Given the description of an element on the screen output the (x, y) to click on. 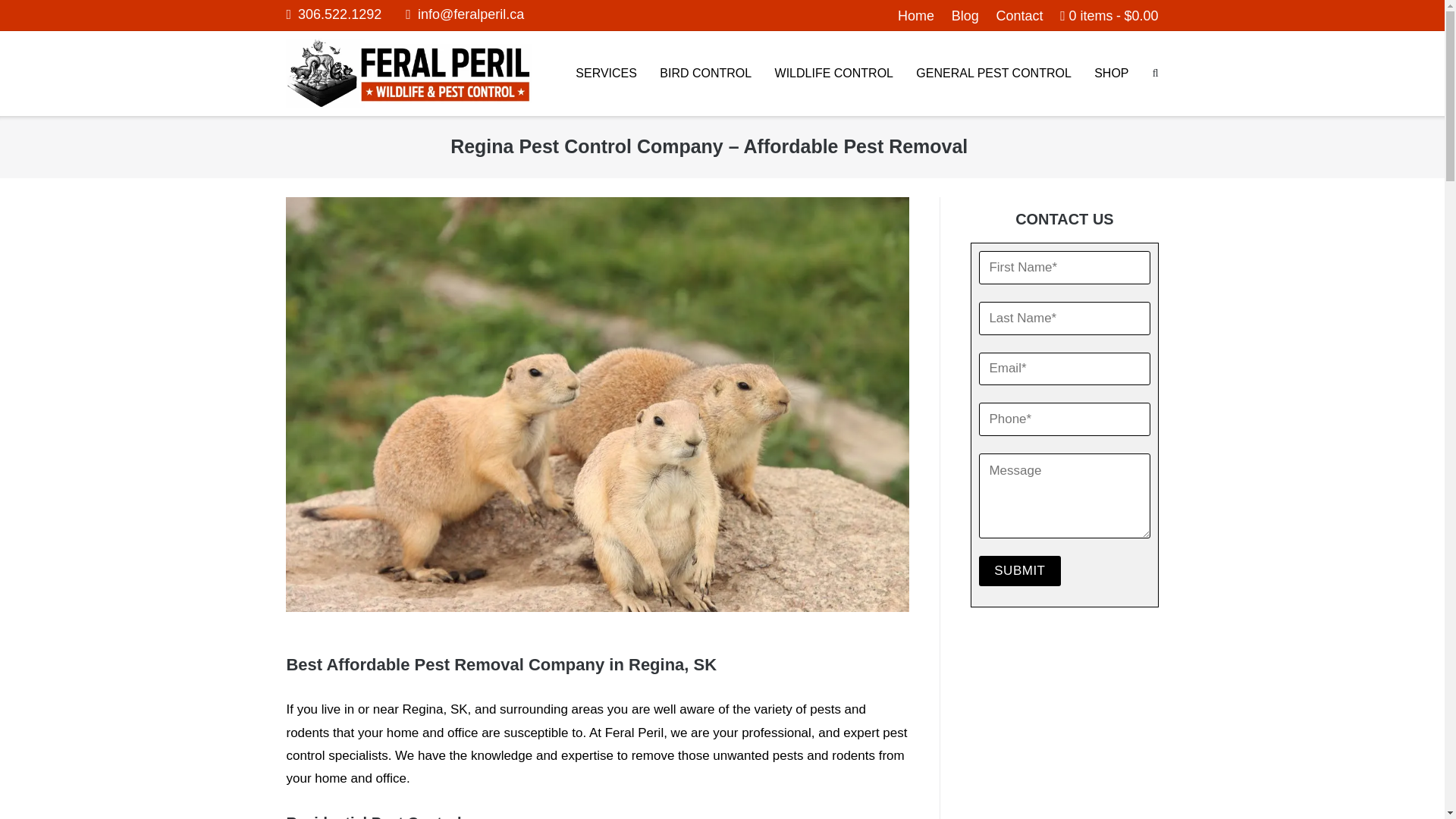
Blog (965, 15)
WILDLIFE CONTROL (833, 73)
Home (916, 15)
SERVICES (606, 73)
BIRD CONTROL (705, 73)
SHOP (1111, 73)
Contact (1019, 15)
Start shopping (1108, 15)
306.522.1292 (333, 14)
GENERAL PEST CONTROL (993, 73)
SUBMIT (1018, 571)
